Given the description of an element on the screen output the (x, y) to click on. 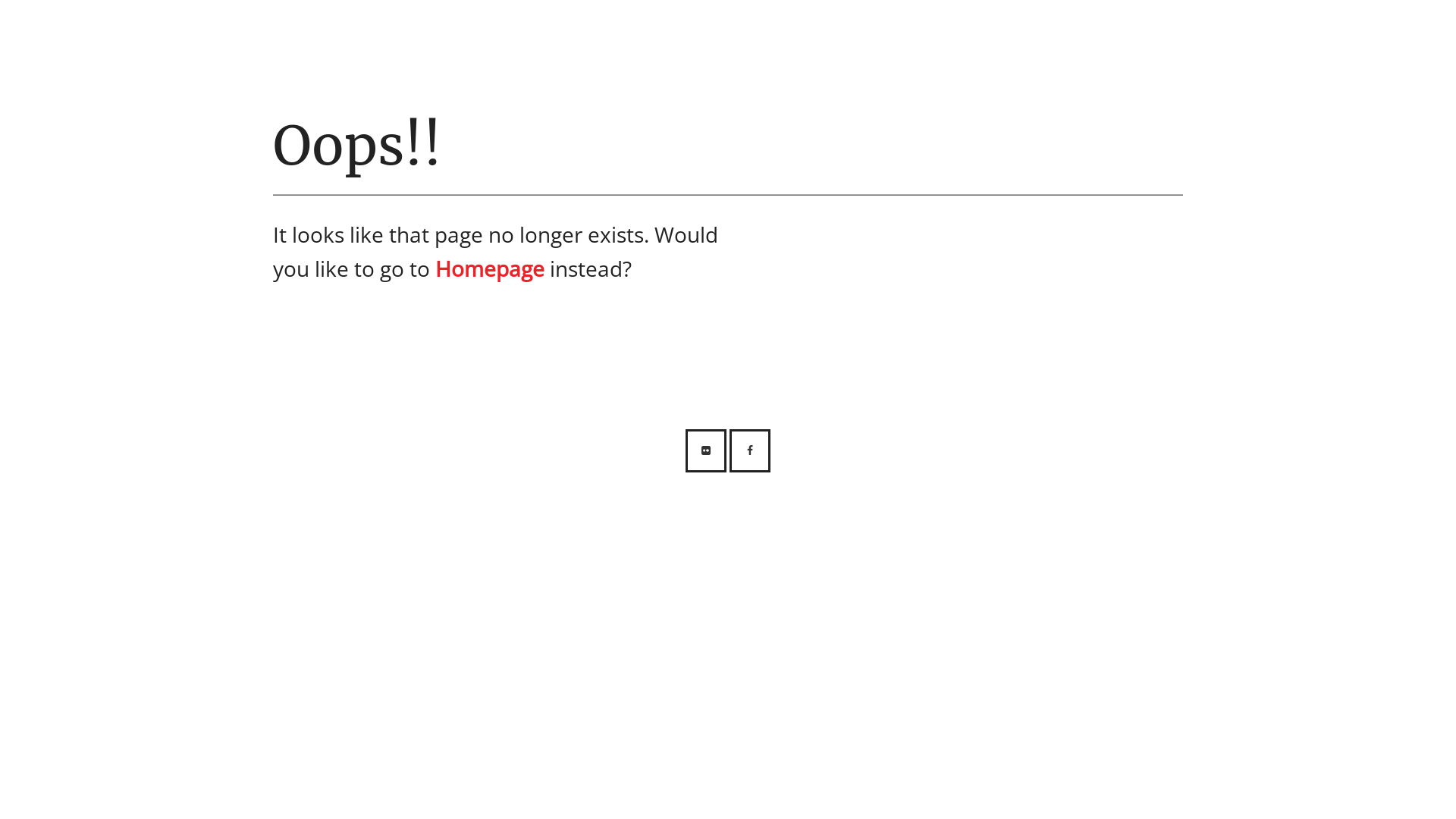
Homepage Element type: text (489, 268)
